Given the description of an element on the screen output the (x, y) to click on. 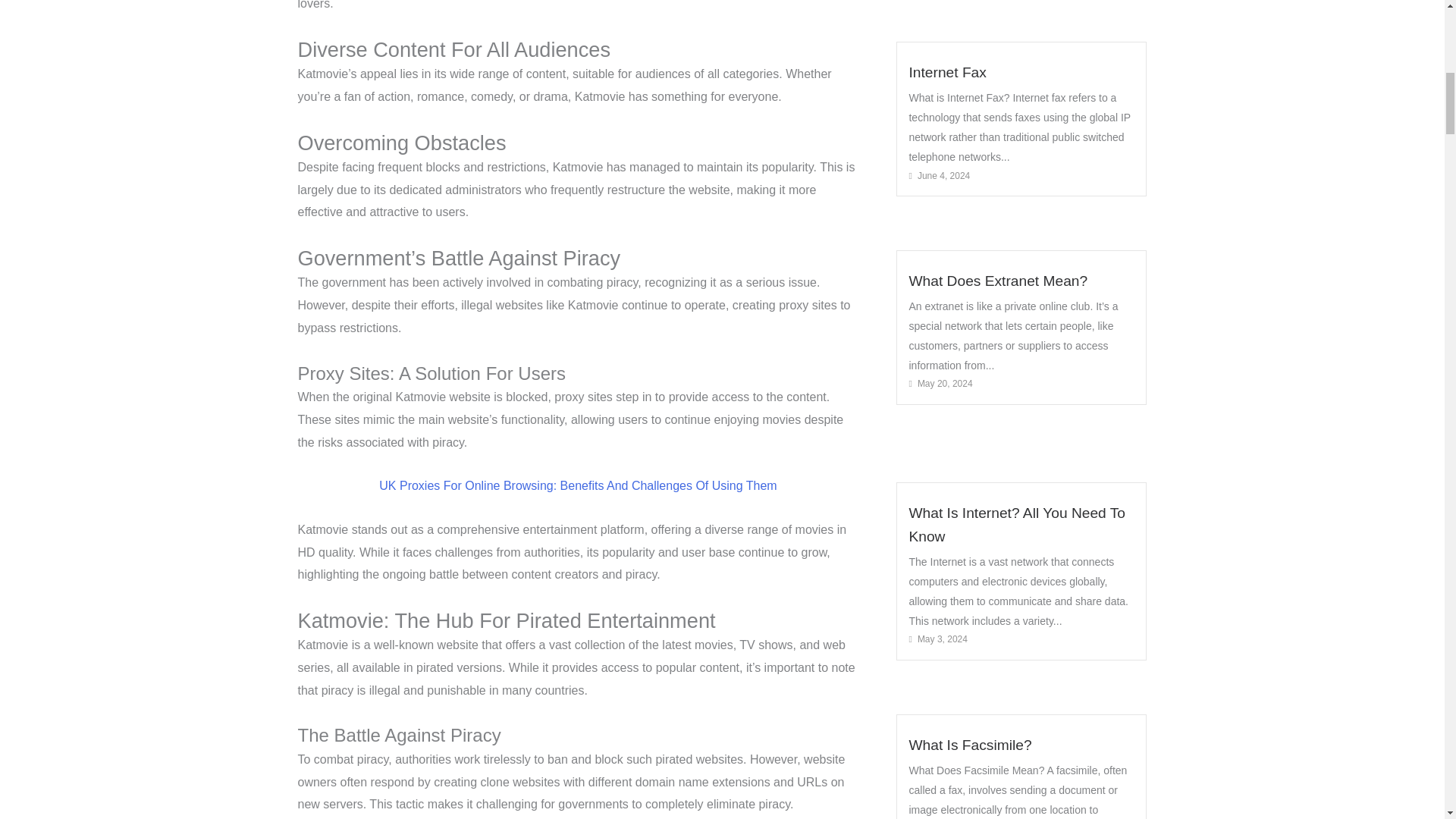
What is Internet? All You Need To Know (1016, 524)
Internet Fax (946, 72)
What Does Extranet Mean? (997, 280)
What is Facsimile? (969, 744)
